Given the description of an element on the screen output the (x, y) to click on. 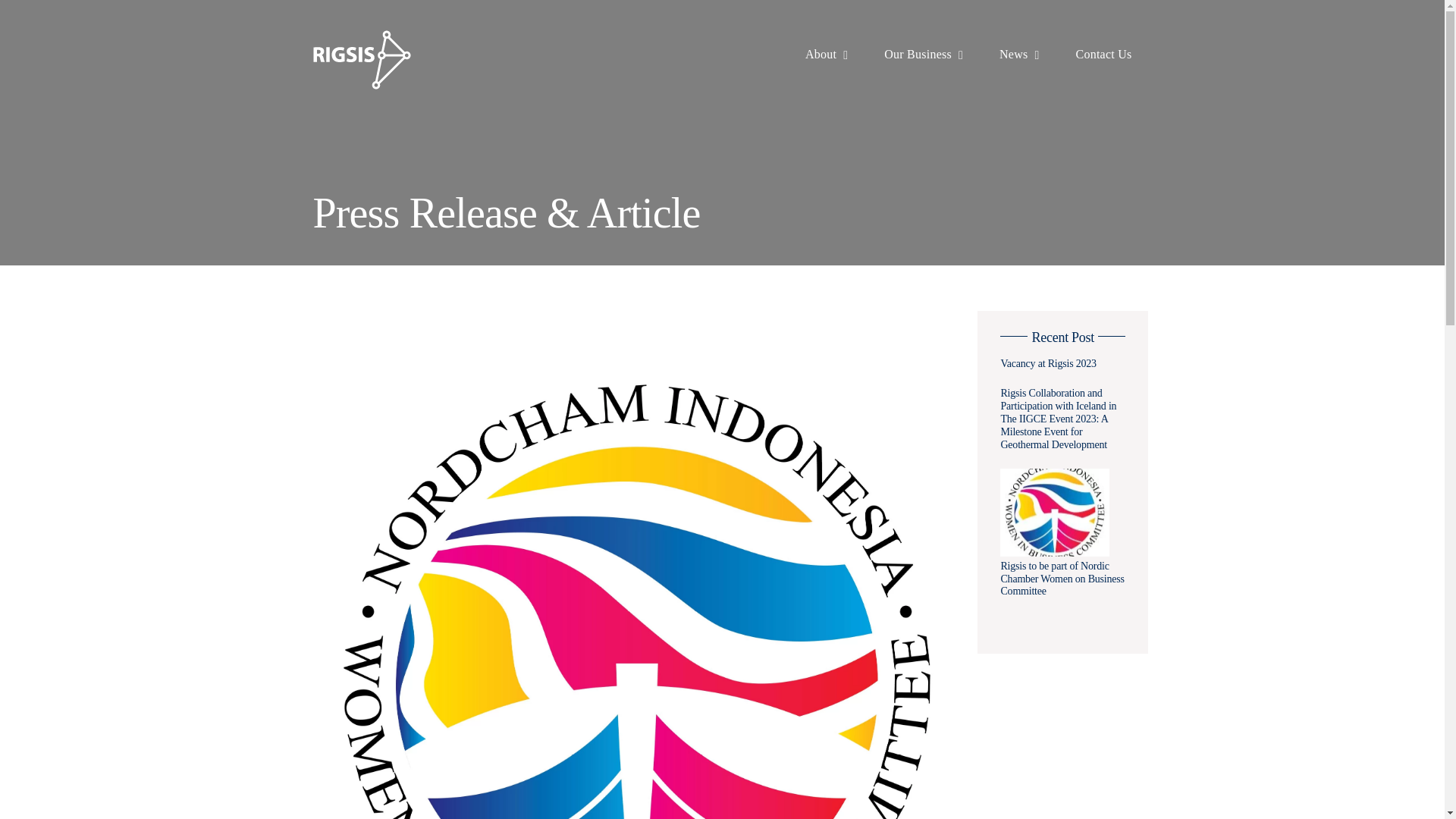
Our Business (922, 54)
News (1018, 54)
About (826, 54)
Contact Us (1103, 54)
